Given the description of an element on the screen output the (x, y) to click on. 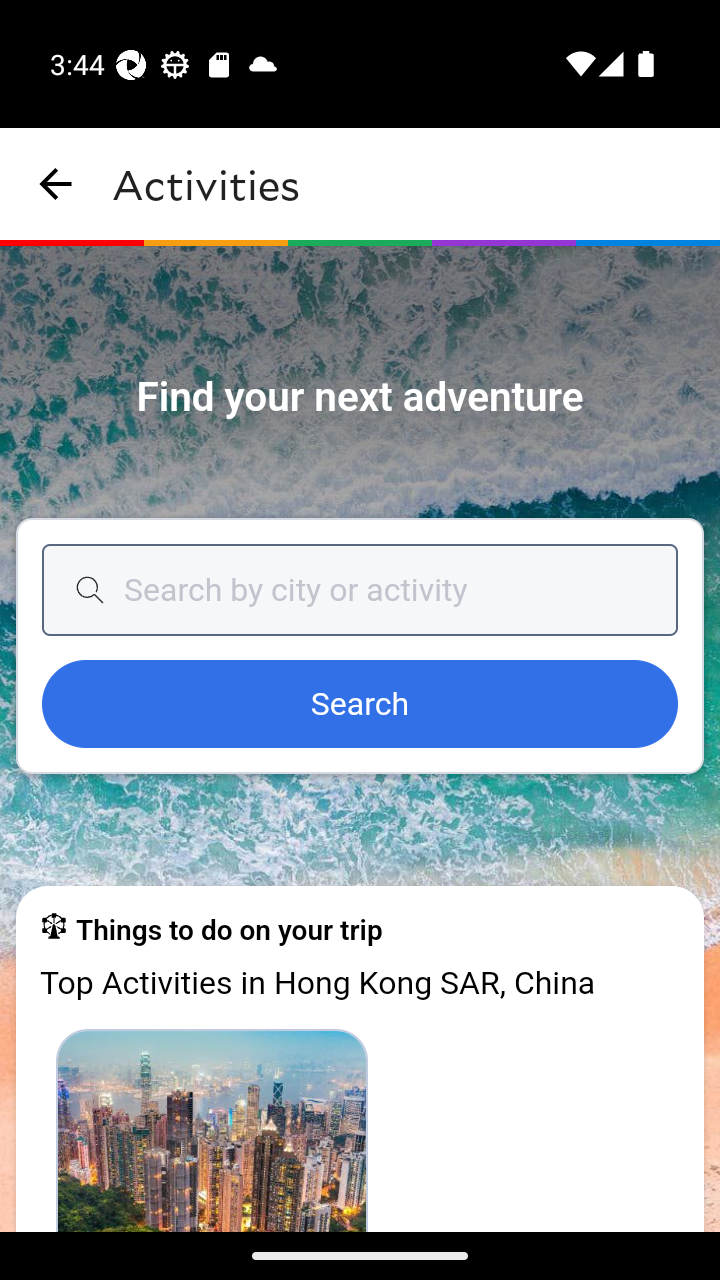
navigation_button (56, 184)
Search (359, 705)
Find top deals Hong Kong Find top deals (211, 1129)
